Given the description of an element on the screen output the (x, y) to click on. 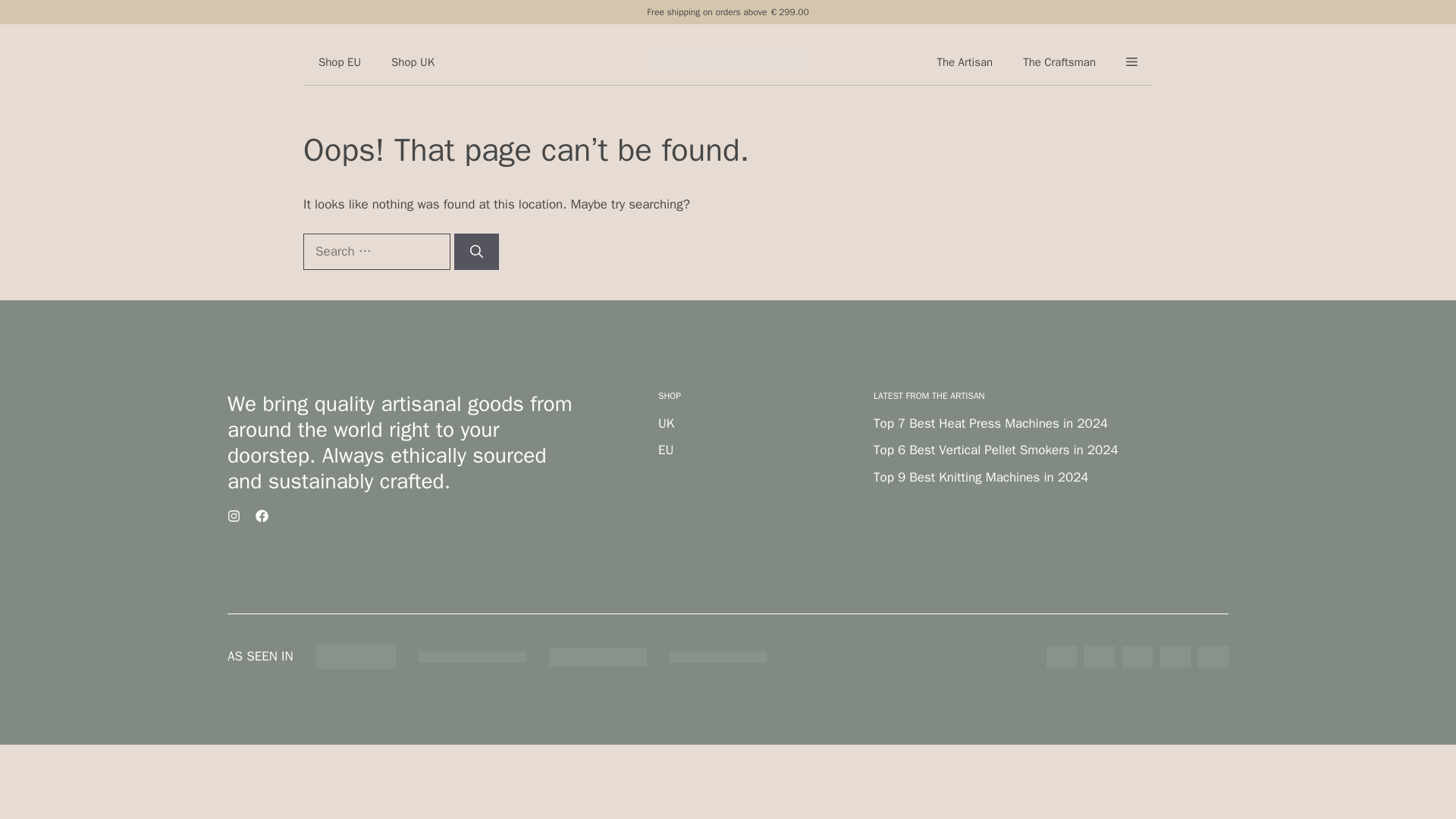
LATEST FROM THE ARTISAN (929, 395)
Top 9 Best Knitting Machines in 2024 (981, 477)
Top 7 Best Heat Press Machines in 2024 (990, 423)
Shop UK (412, 62)
icon-8 (1137, 656)
icon-7 (1175, 656)
icon-6 (1213, 656)
The Artisan (964, 62)
UK (666, 423)
icon-10 (1061, 656)
